Given the description of an element on the screen output the (x, y) to click on. 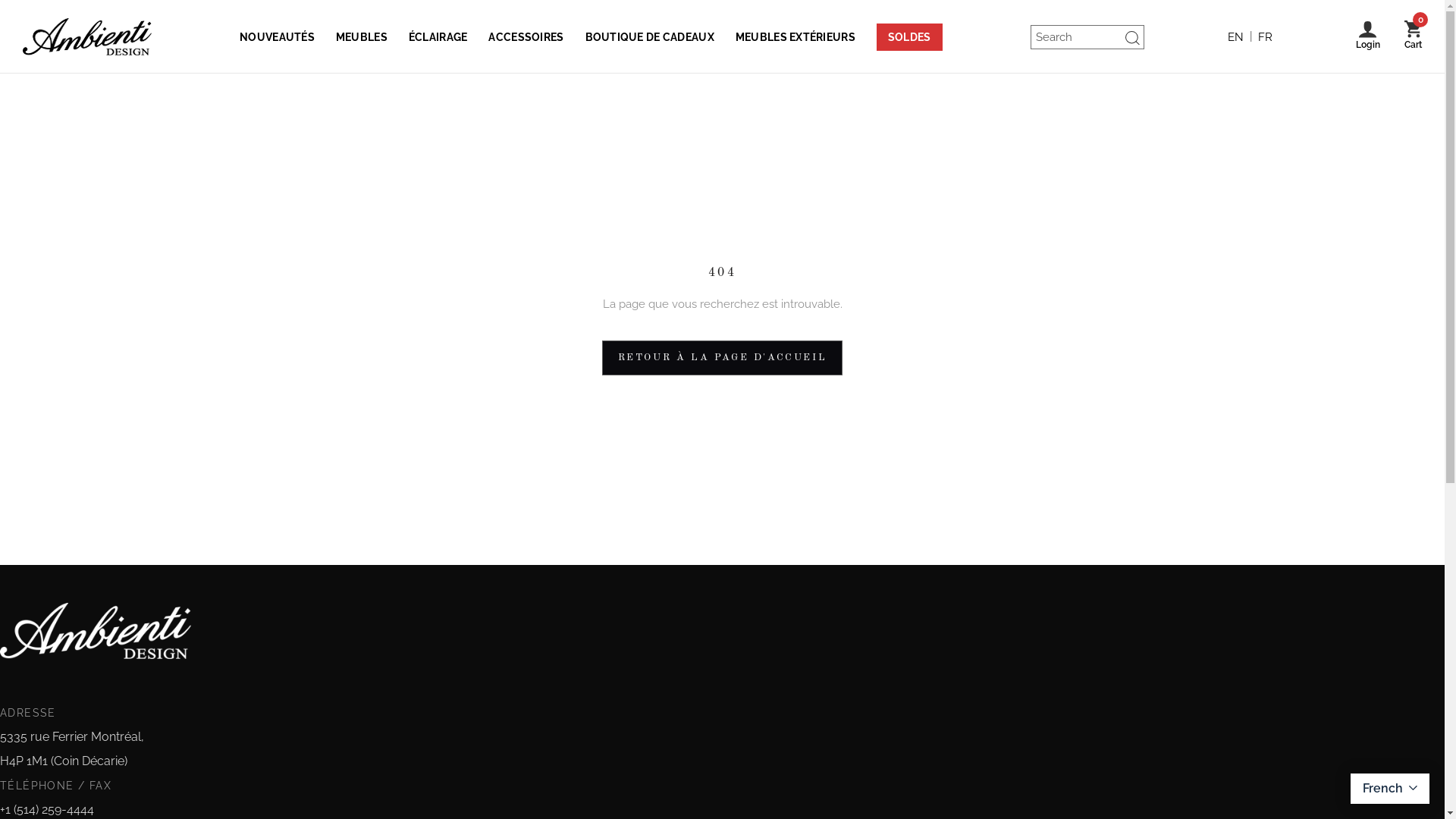
SOLDES
SOLDES Element type: text (909, 36)
FR Element type: text (1265, 36)
BOUTIQUE DE CADEAUX Element type: text (649, 36)
EN Element type: text (1235, 36)
Cart
0 Element type: text (1412, 36)
MEUBLES
MEUBLES Element type: text (361, 36)
Search Element type: text (1143, 36)
French Element type: text (1389, 788)
Login Element type: text (1367, 36)
ACCESSOIRES Element type: text (525, 36)
